Given the description of an element on the screen output the (x, y) to click on. 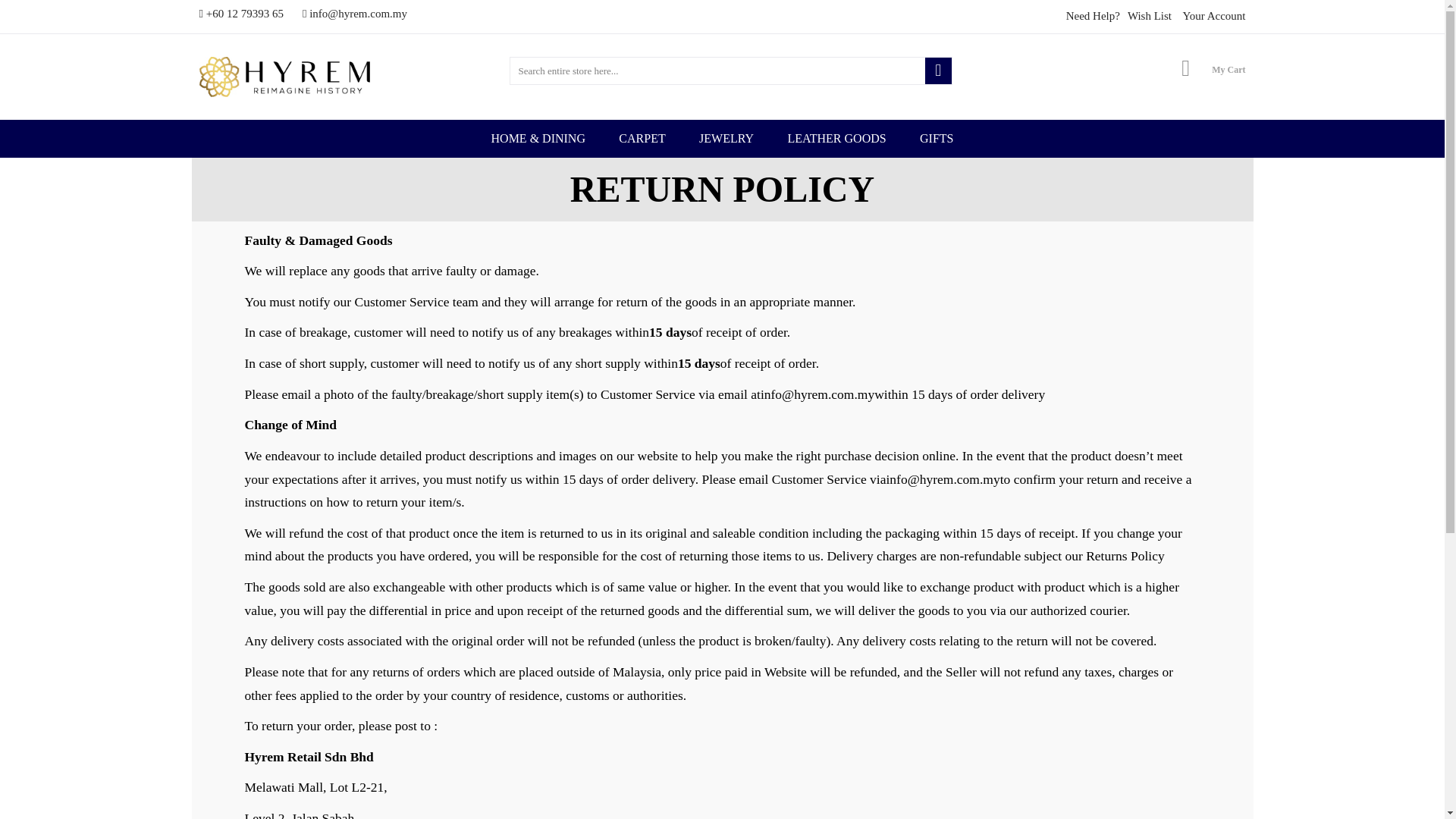
SEARCH (938, 70)
LEATHER GOODS (836, 138)
Hyrem Logo (283, 76)
JEWELRY (726, 138)
My Cart (1227, 68)
Your Account (1213, 15)
GIFTS (936, 138)
Wish List (1149, 15)
Need Help? (1092, 15)
Search (938, 70)
